Given the description of an element on the screen output the (x, y) to click on. 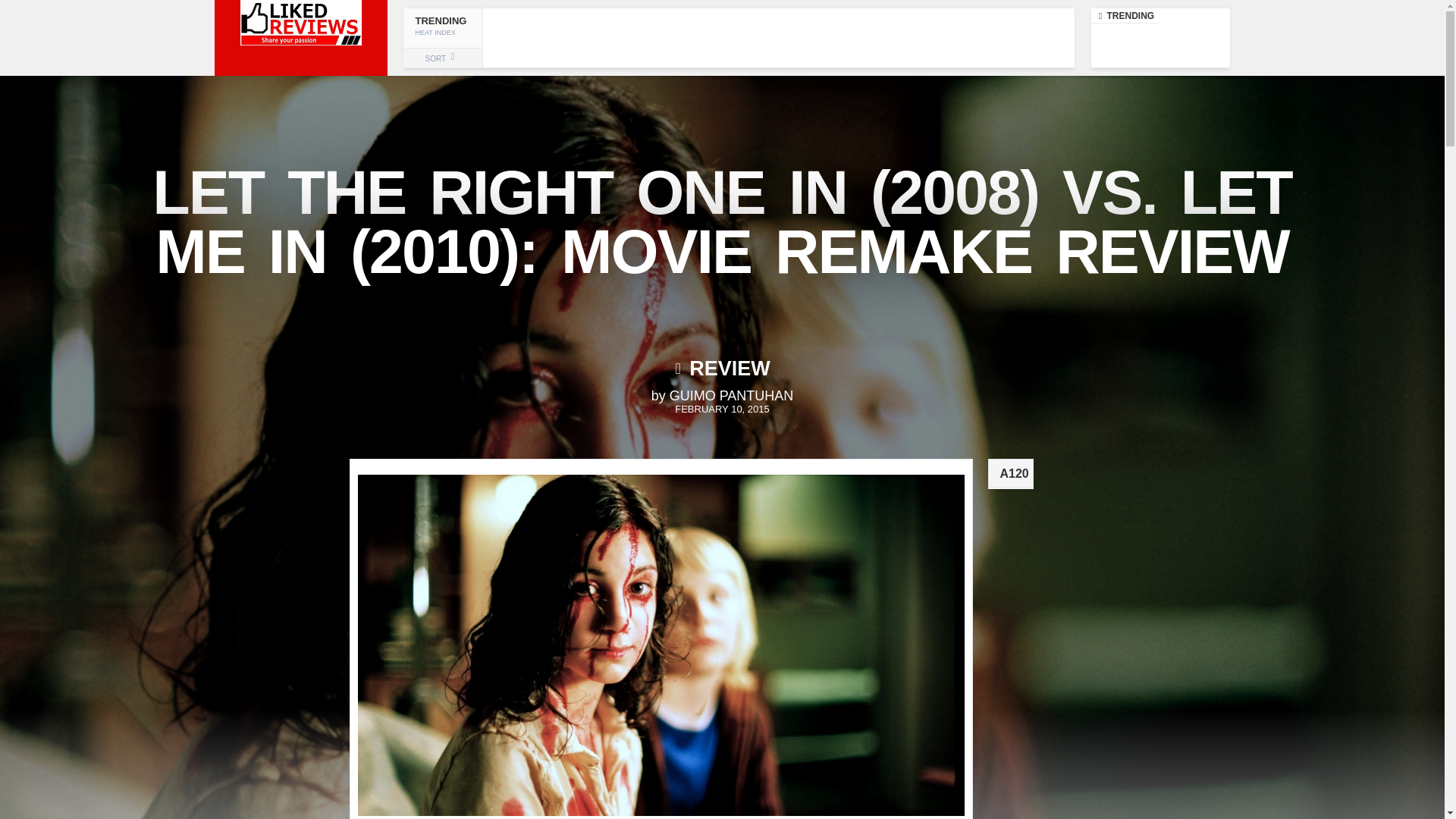
GUIMO PANTUHAN (737, 37)
Click for full view (731, 395)
